Given the description of an element on the screen output the (x, y) to click on. 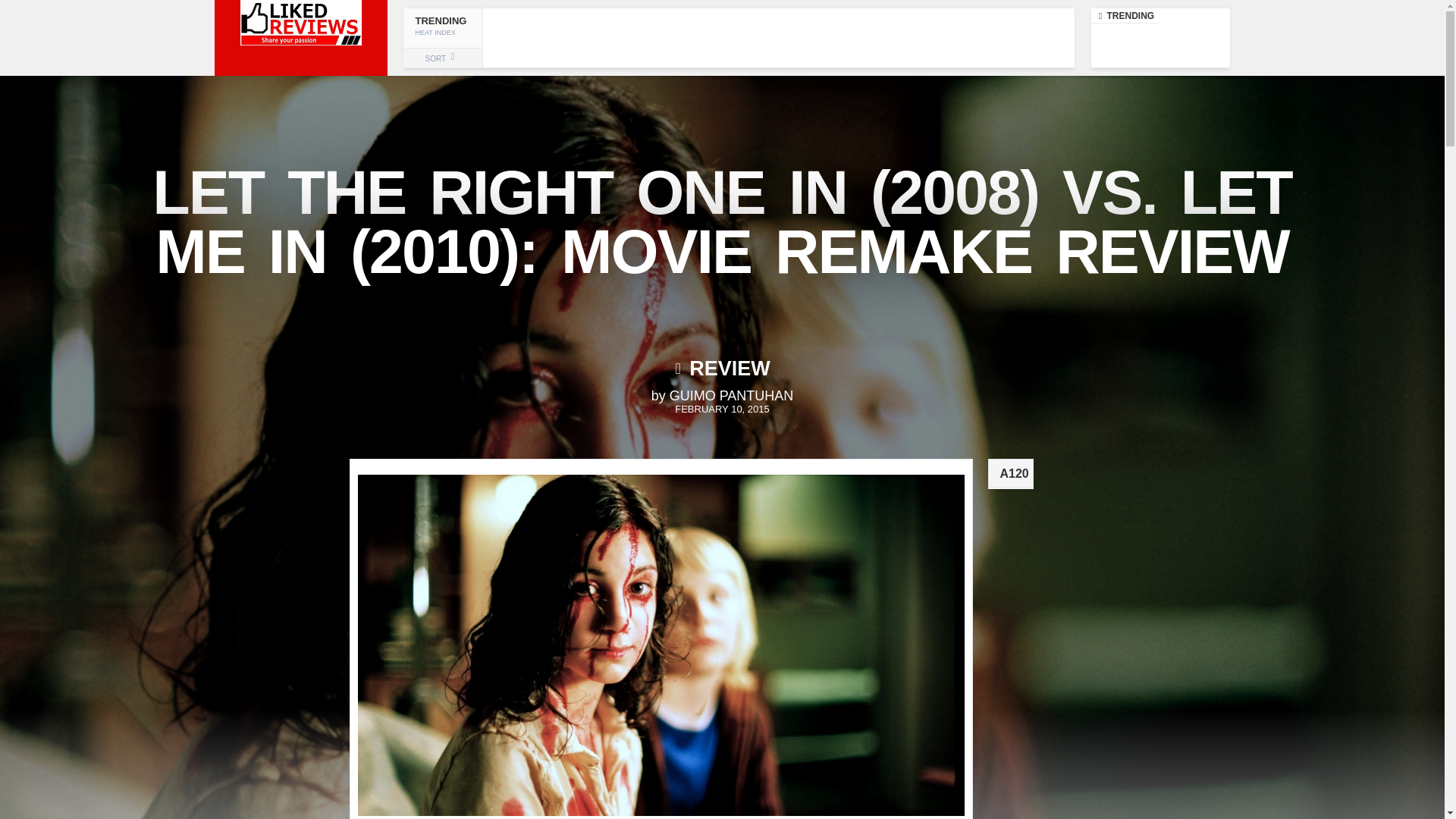
GUIMO PANTUHAN (737, 37)
Click for full view (731, 395)
